Given the description of an element on the screen output the (x, y) to click on. 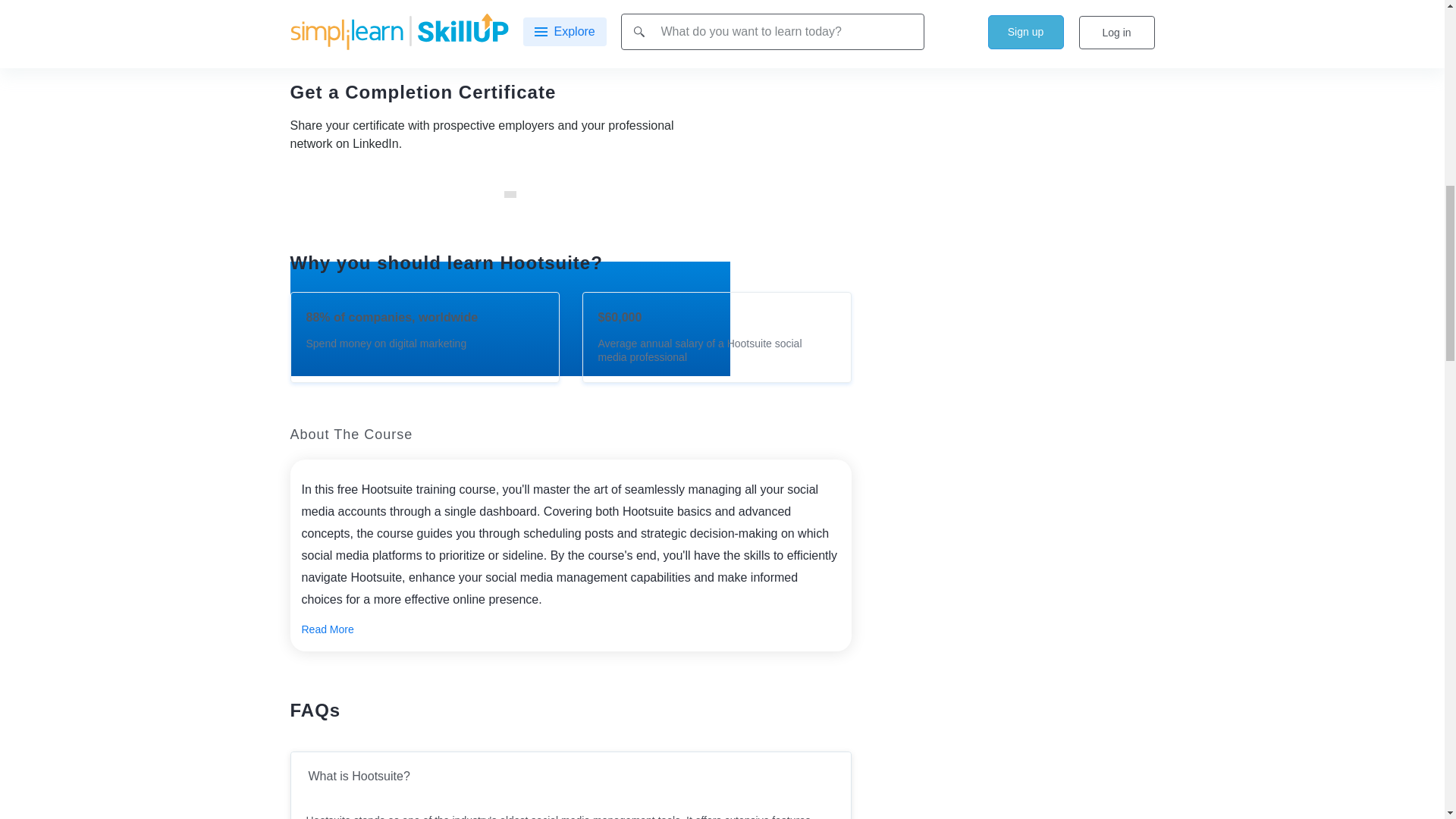
Read More (327, 629)
View More (569, 35)
